Given the description of an element on the screen output the (x, y) to click on. 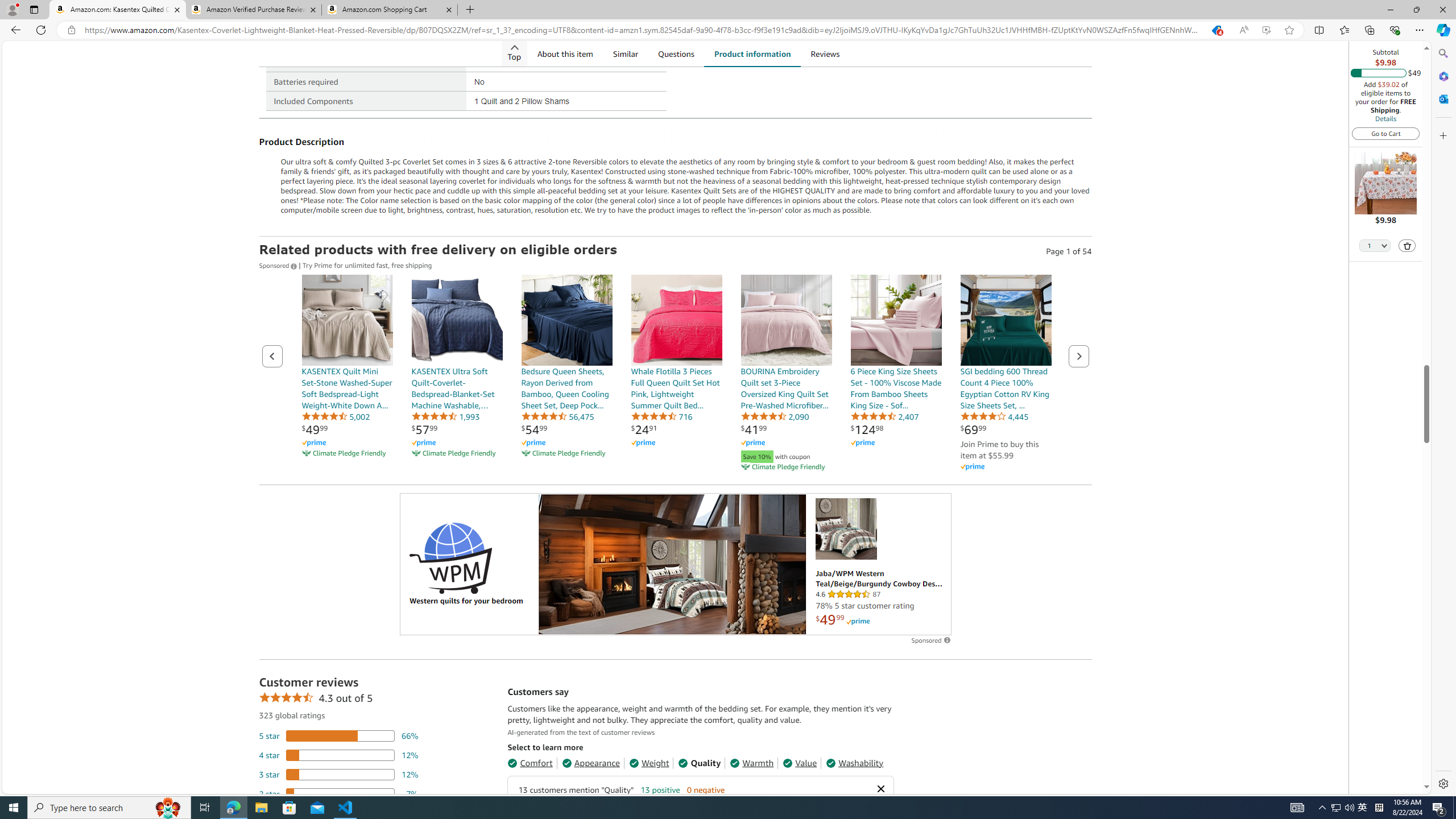
Sponsored ad (675, 563)
Prime (857, 620)
4,445$69.99Join Prime to buy this item at $55.99 (1005, 373)
Logo (450, 557)
Amazon Prime (1005, 466)
